Given the description of an element on the screen output the (x, y) to click on. 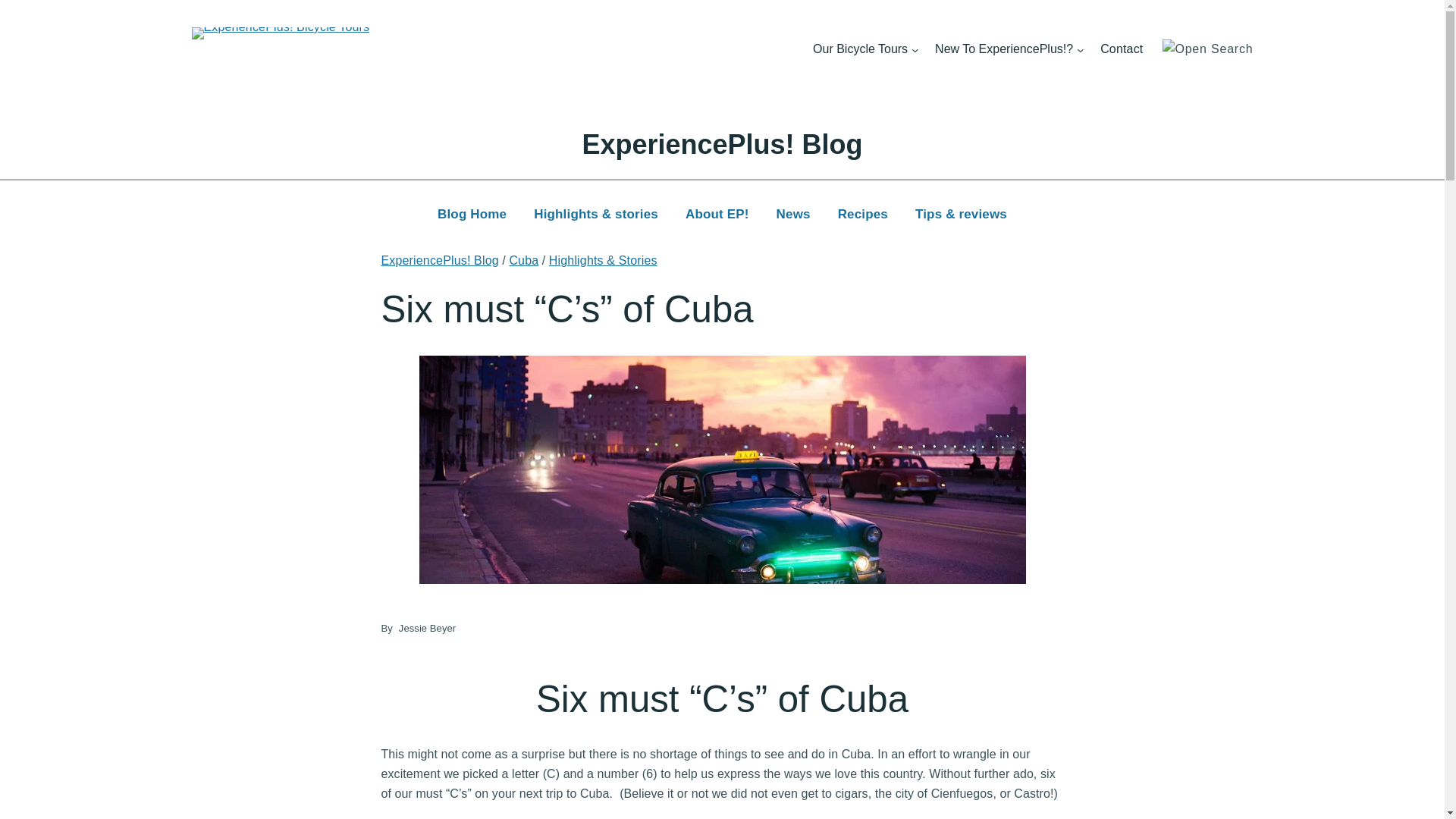
Our Bicycle Tours (860, 48)
News (793, 215)
ExperiencePlus! Blog (438, 259)
Contact (1121, 48)
Blog Home (471, 215)
Recipes (862, 215)
Cuba (523, 259)
New To ExperiencePlus!? (1003, 48)
About EP! (717, 215)
